Given the description of an element on the screen output the (x, y) to click on. 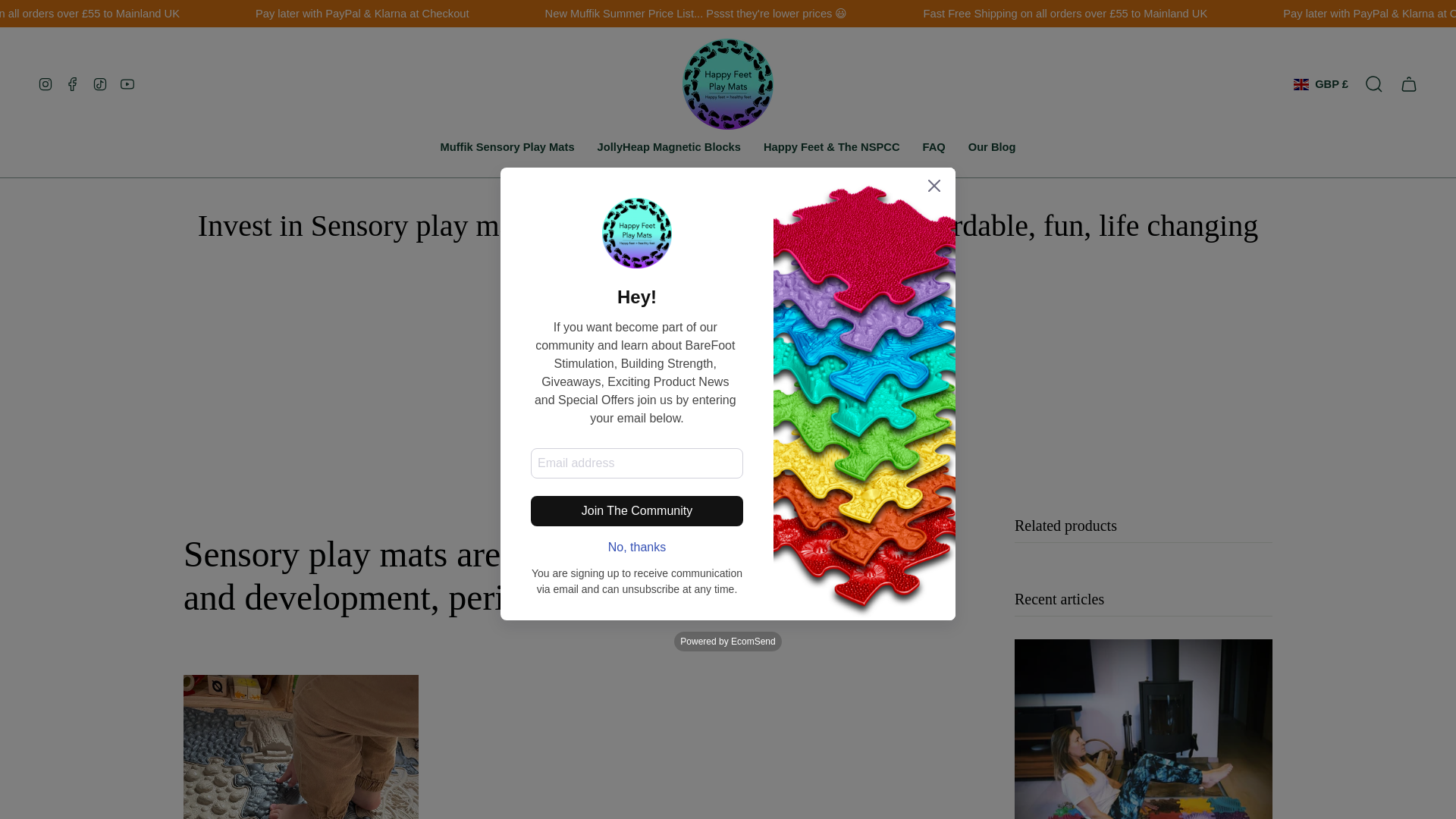
Search (1373, 84)
Happy Feet Play Mats on Instagram (44, 83)
Instagram (44, 83)
Muffik Sensory Play Mats (506, 147)
JollyHeap Magnetic Blocks (669, 147)
Happy Feet Play Mats on YouTube (127, 83)
Facebook (72, 83)
TikTok (100, 83)
Your Bag (1408, 84)
Happy Feet Play Mats on TikTok (100, 83)
Cart (1408, 84)
YouTube (127, 83)
Happy Feet Play Mats on Facebook (72, 83)
